Given the description of an element on the screen output the (x, y) to click on. 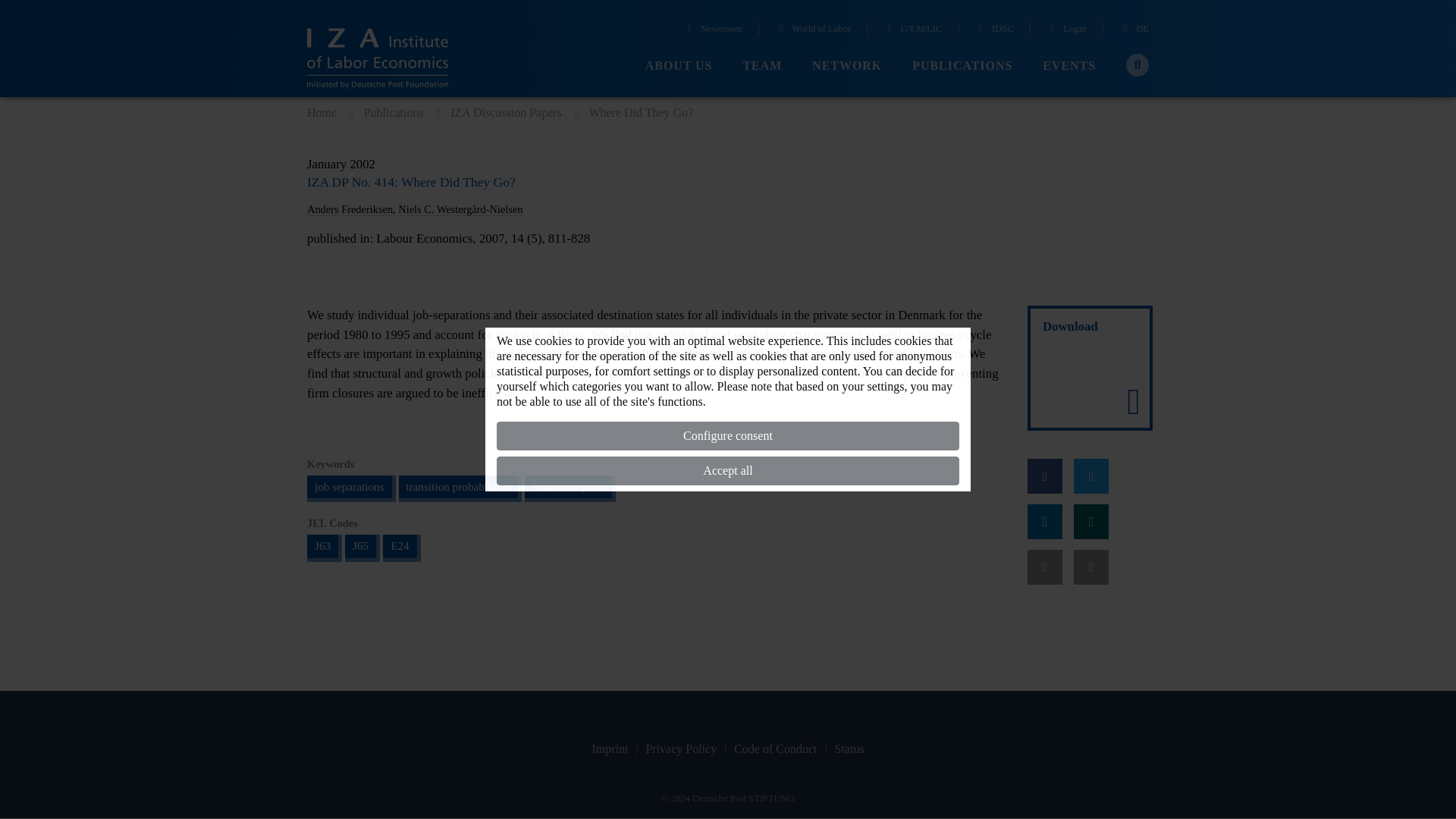
EVENTS (1069, 66)
IDSC (993, 30)
TEAM (761, 66)
PUBLICATIONS (961, 66)
ABOUT US (679, 66)
DE (1133, 30)
Newsroom (712, 30)
Login (1066, 30)
World of Labor (812, 30)
NETWORK (847, 66)
